Given the description of an element on the screen output the (x, y) to click on. 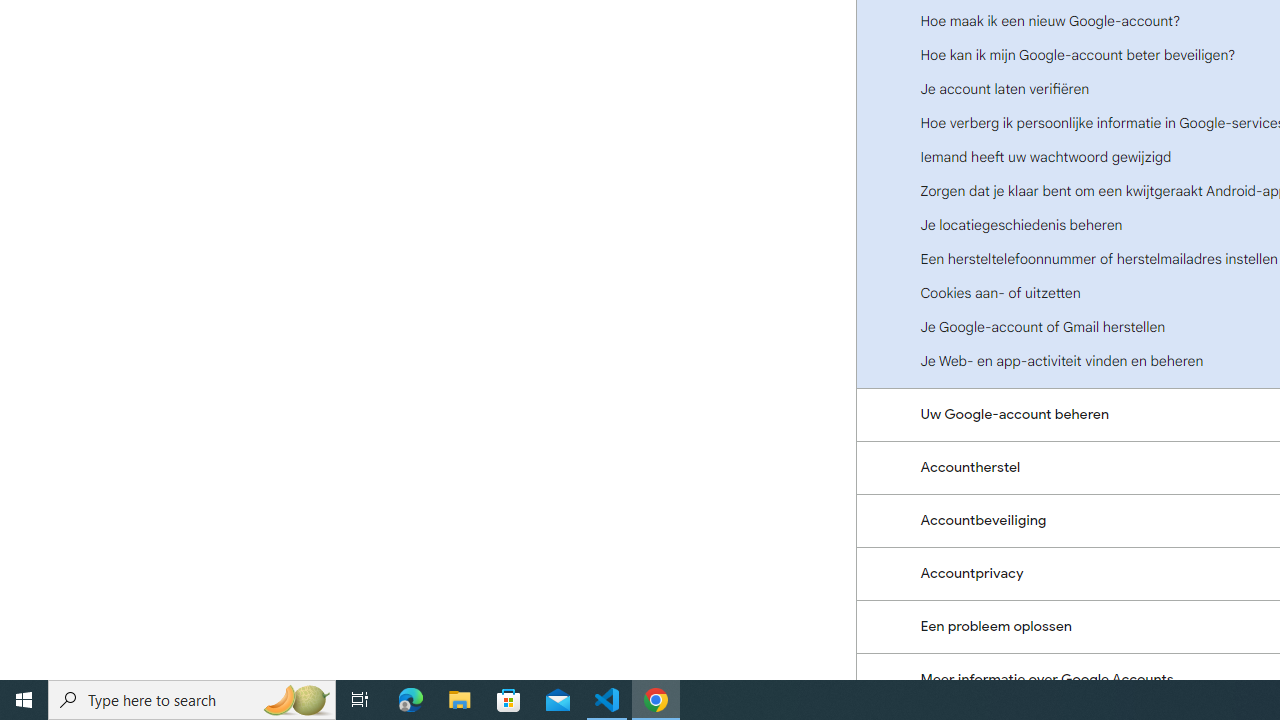
Microsoft Edge (411, 699)
Google Chrome - 1 running window (656, 699)
Search highlights icon opens search home window (295, 699)
Visual Studio Code - 1 running window (607, 699)
File Explorer (460, 699)
Type here to search (191, 699)
Microsoft Store (509, 699)
Start (24, 699)
Task View (359, 699)
